Given the description of an element on the screen output the (x, y) to click on. 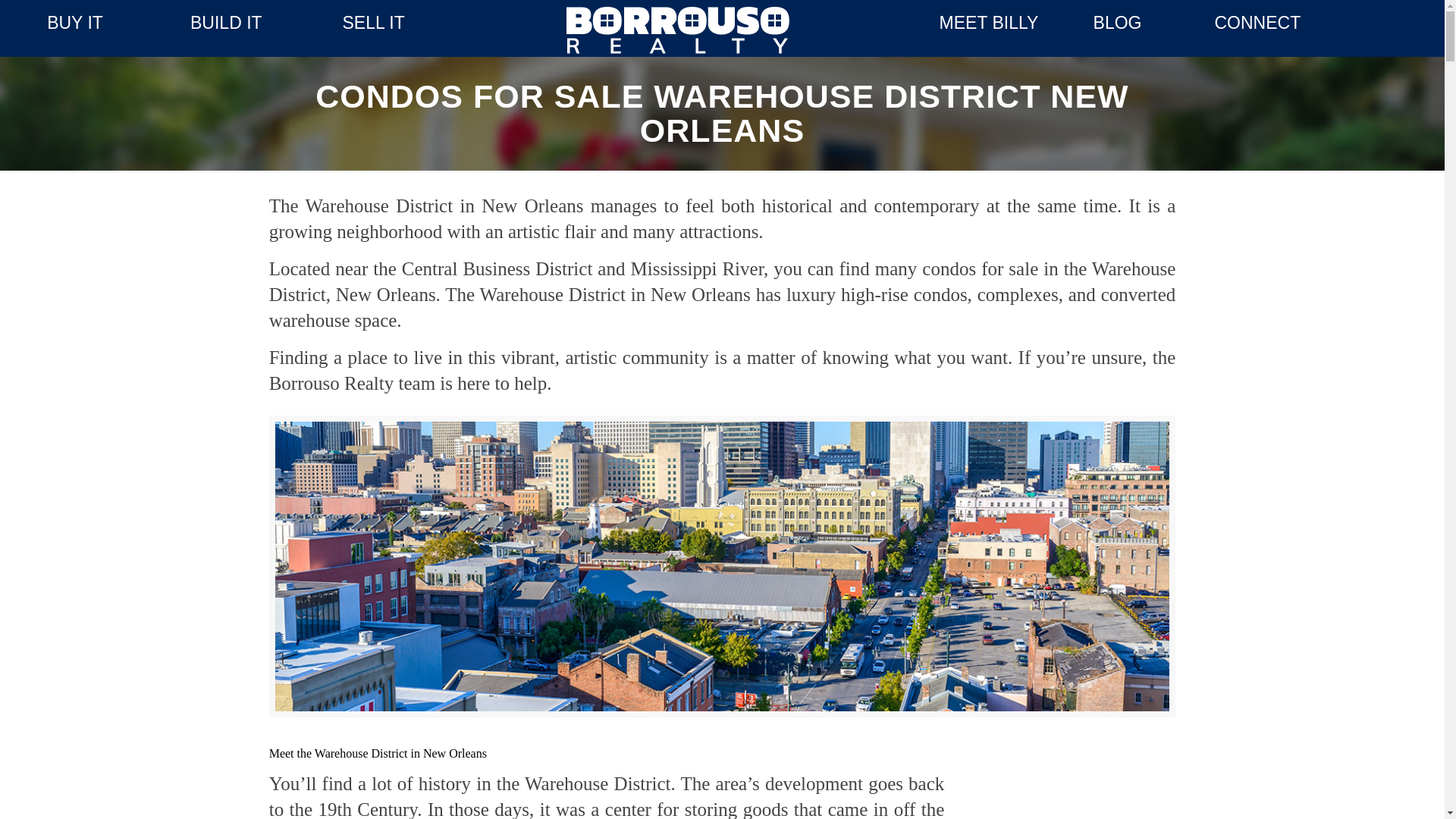
MEET BILLY (977, 22)
BUY IT (74, 22)
BLOG (1117, 22)
CONNECT (1257, 22)
SELL IT (373, 22)
HOME (677, 30)
BUILD IT (226, 22)
